Given the description of an element on the screen output the (x, y) to click on. 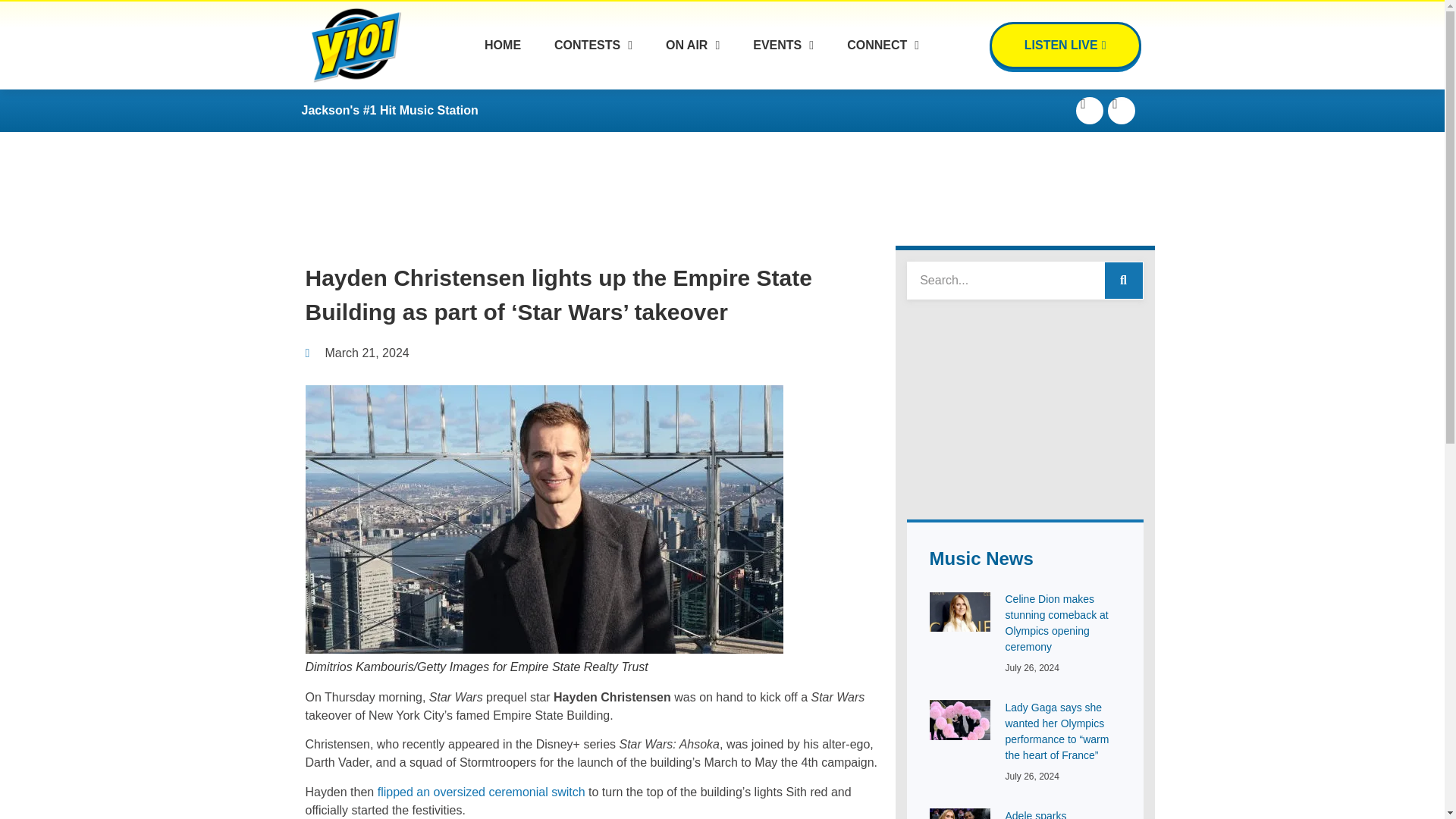
CONTESTS (593, 73)
CONNECT (882, 51)
EVENTS (783, 54)
ON AIR (692, 63)
LISTEN LIVE (1065, 45)
HOME (502, 74)
